Given the description of an element on the screen output the (x, y) to click on. 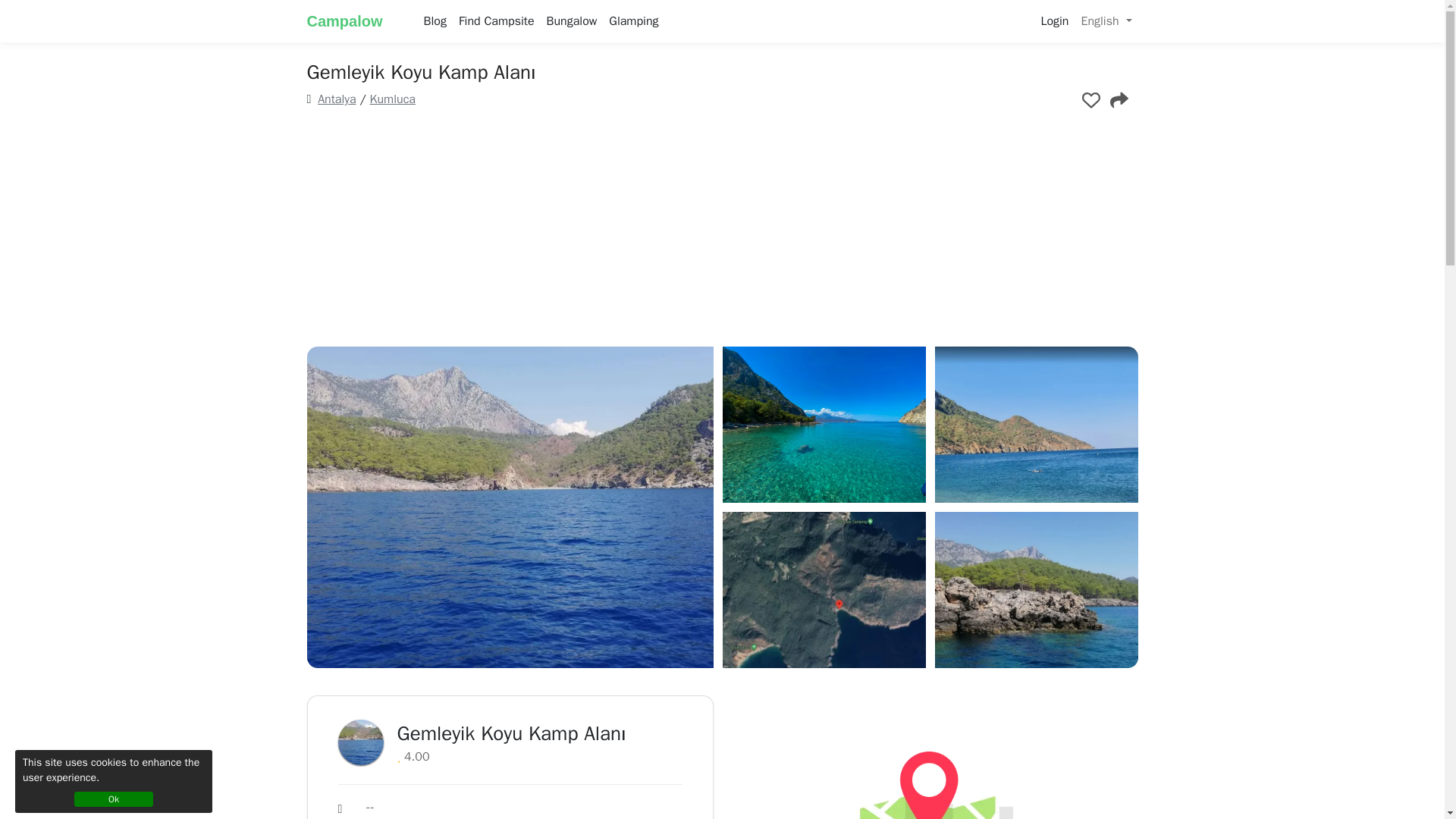
Bungalow (572, 20)
Campalow (354, 20)
Blog (434, 20)
Glamping (632, 20)
Find Campsite (496, 20)
Antalya (336, 99)
English (1105, 20)
Kumluca (391, 99)
Login (1053, 20)
